Given the description of an element on the screen output the (x, y) to click on. 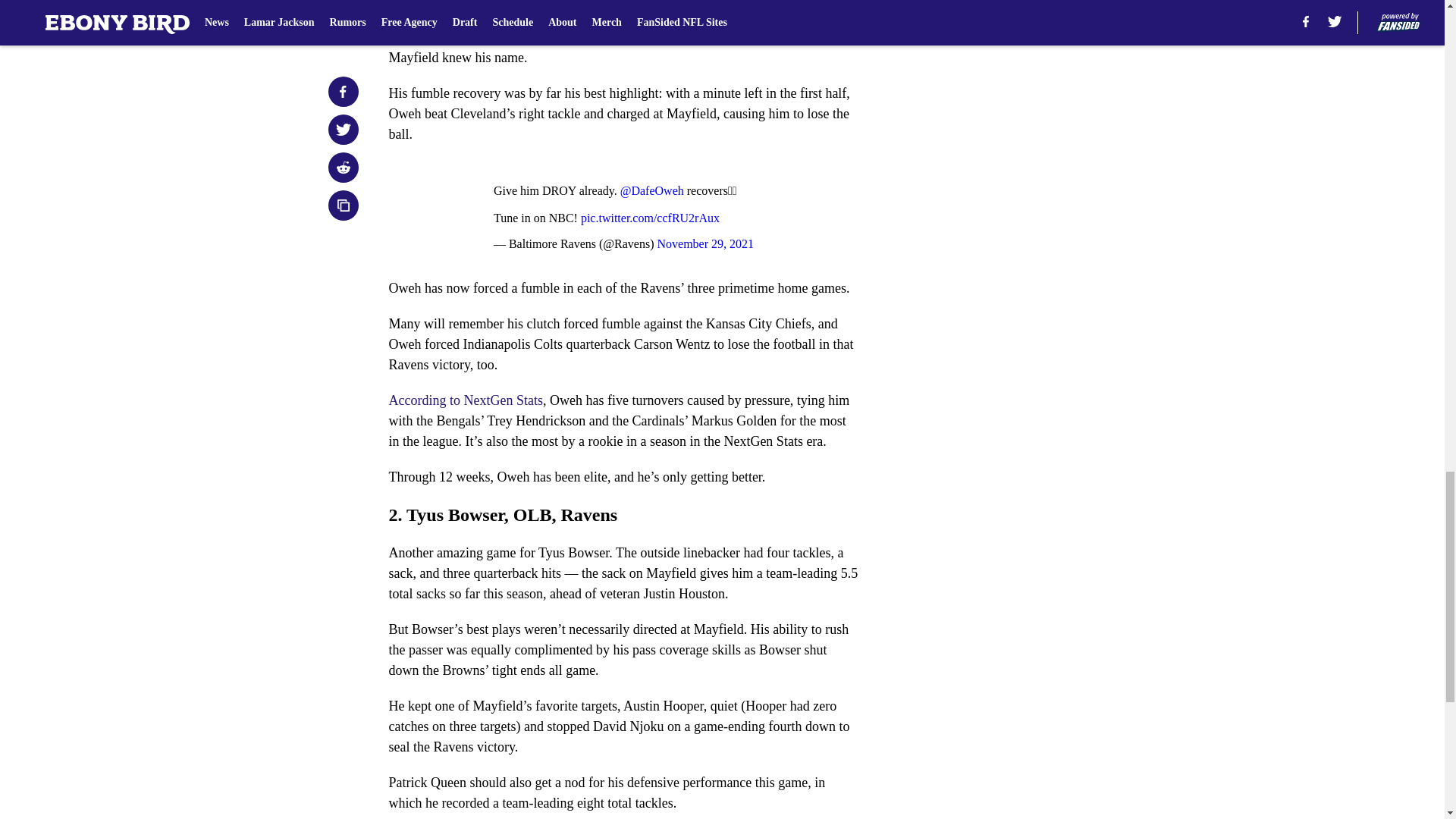
According to NextGen Stats (464, 400)
November 29, 2021 (706, 243)
